Given the description of an element on the screen output the (x, y) to click on. 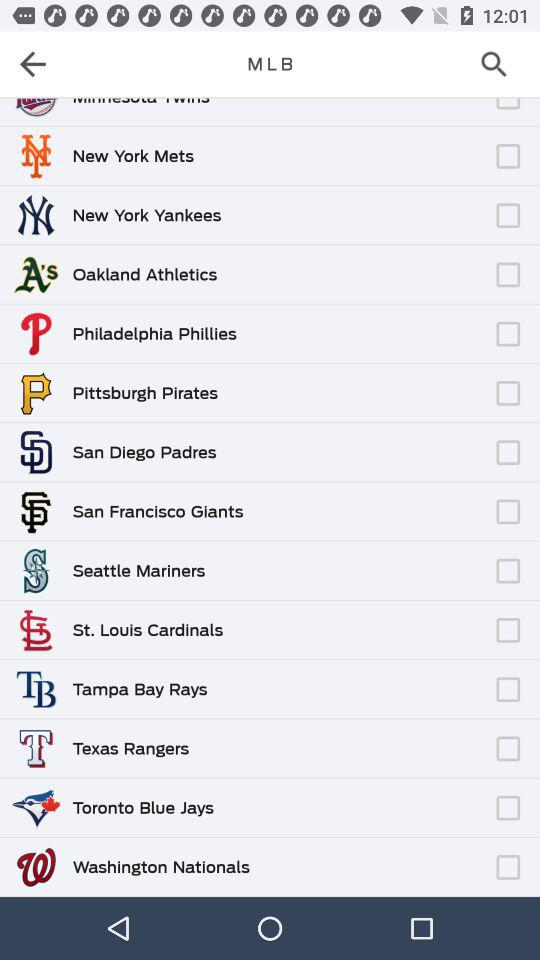
choose the item above philadelphia phillies item (362, 324)
